Given the description of an element on the screen output the (x, y) to click on. 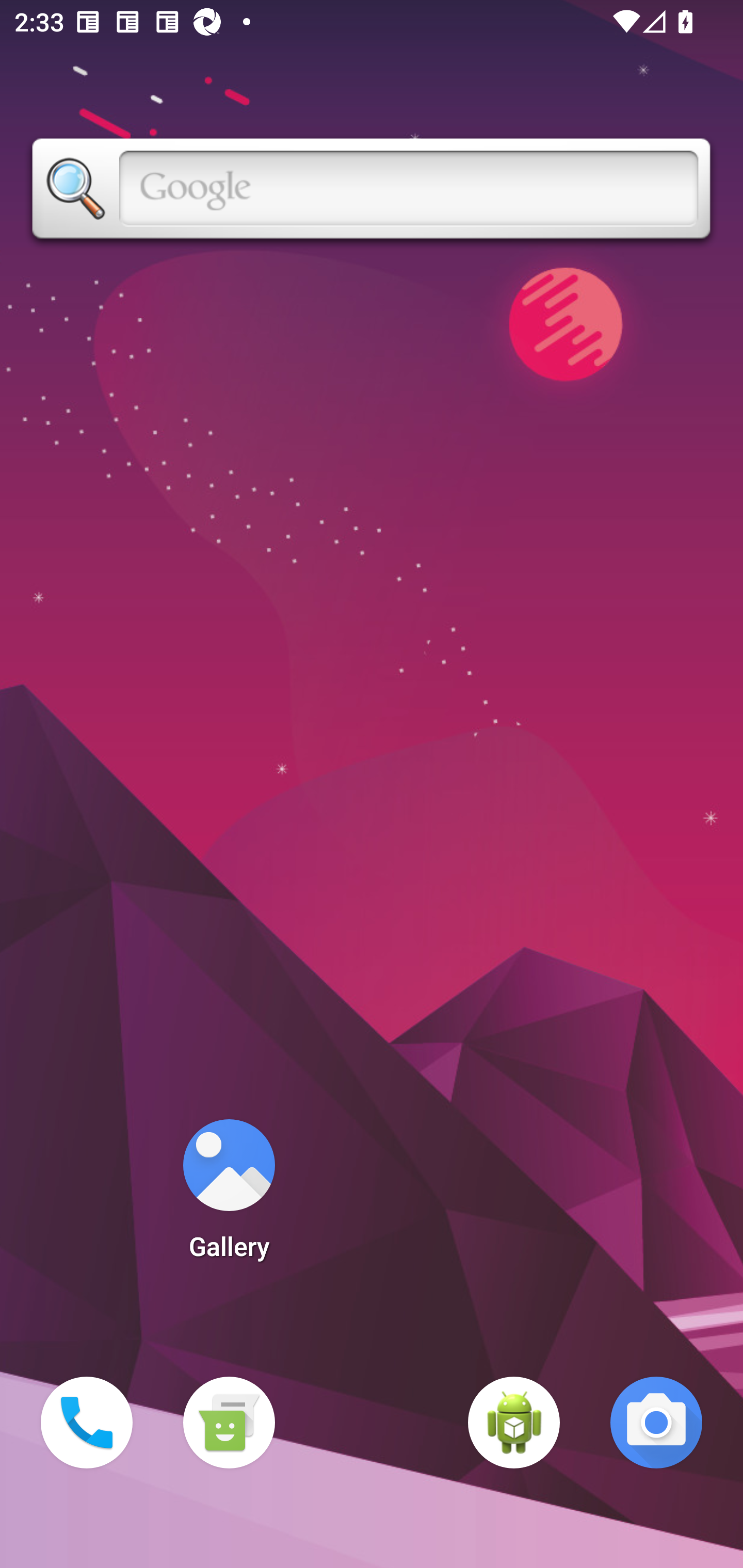
Gallery (228, 1195)
Phone (86, 1422)
Messaging (228, 1422)
WebView Browser Tester (513, 1422)
Camera (656, 1422)
